Given the description of an element on the screen output the (x, y) to click on. 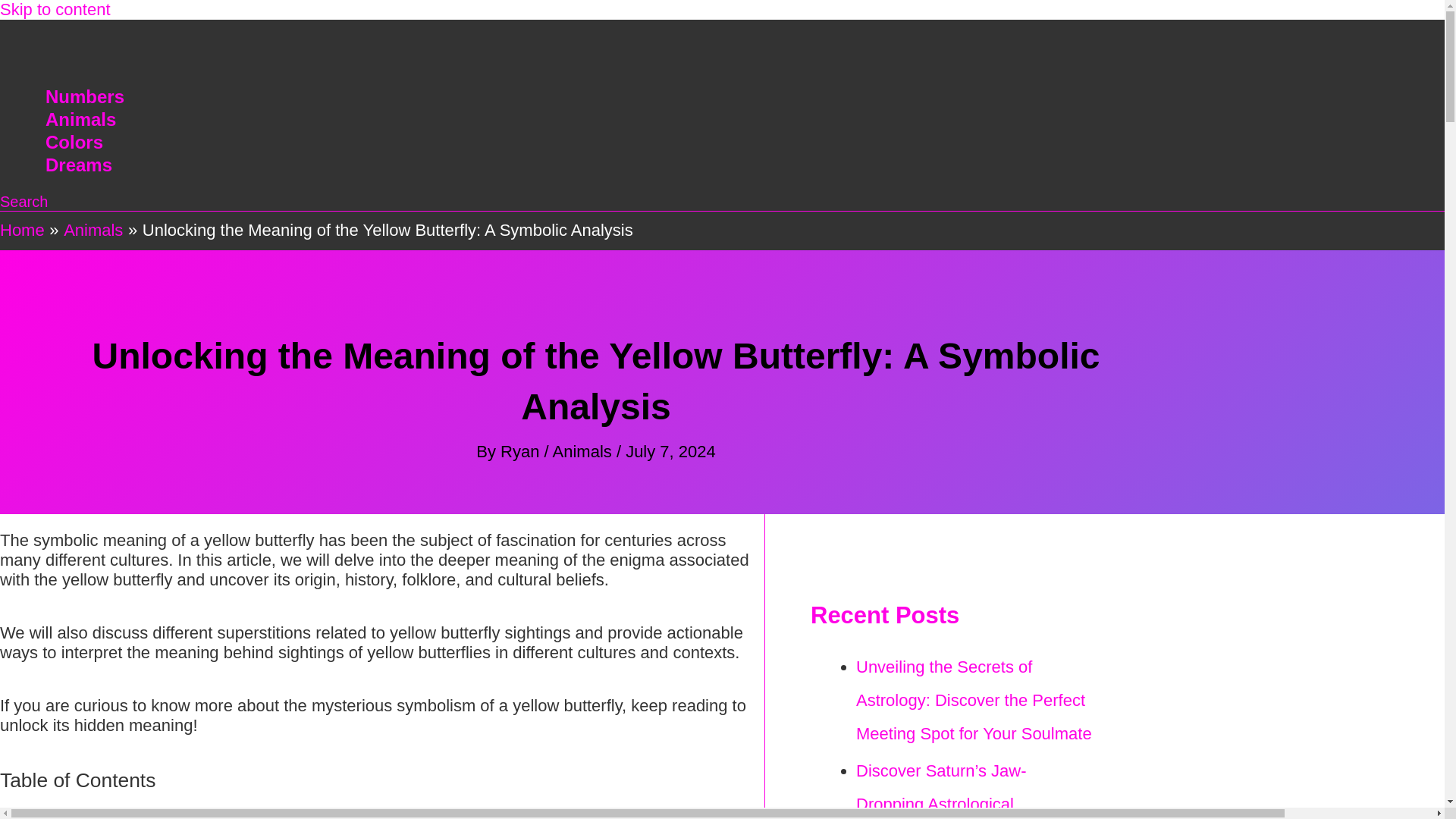
Home (22, 229)
Numbers (84, 96)
Search (24, 201)
Animals (582, 451)
Dreams (84, 164)
Ryan (521, 451)
Skip to content (55, 9)
Animals (84, 119)
Colors (84, 142)
Animals (93, 229)
View all posts by Ryan (521, 451)
Skip to content (55, 9)
